Given the description of an element on the screen output the (x, y) to click on. 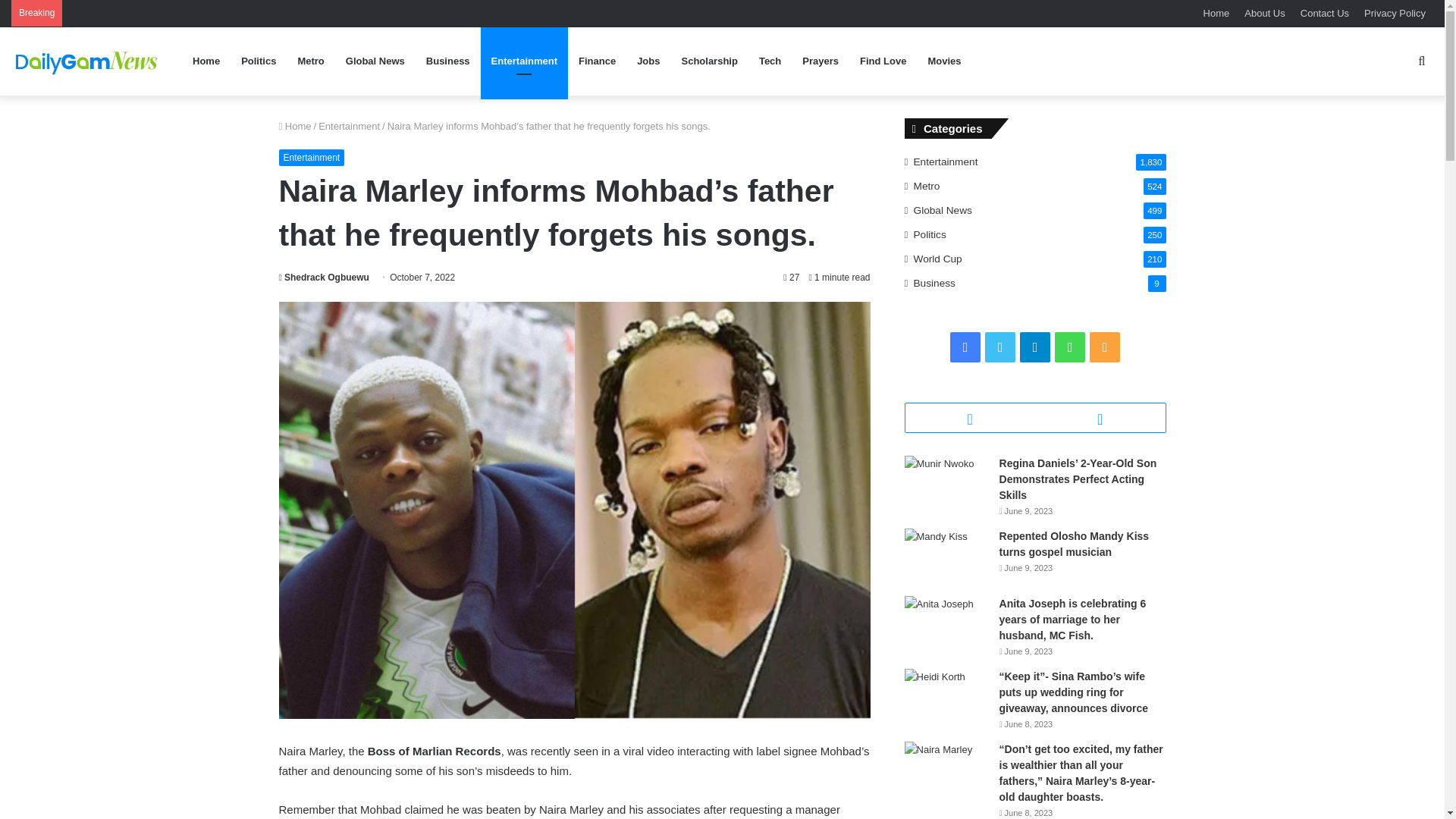
Global News (374, 61)
Shedrack Ogbuewu (324, 276)
Home (295, 125)
Entertainment (349, 125)
Find Love (882, 61)
About Us (1264, 13)
Business (447, 61)
DailyGam News (87, 60)
Privacy Policy (1394, 13)
Scholarship (708, 61)
